Given the description of an element on the screen output the (x, y) to click on. 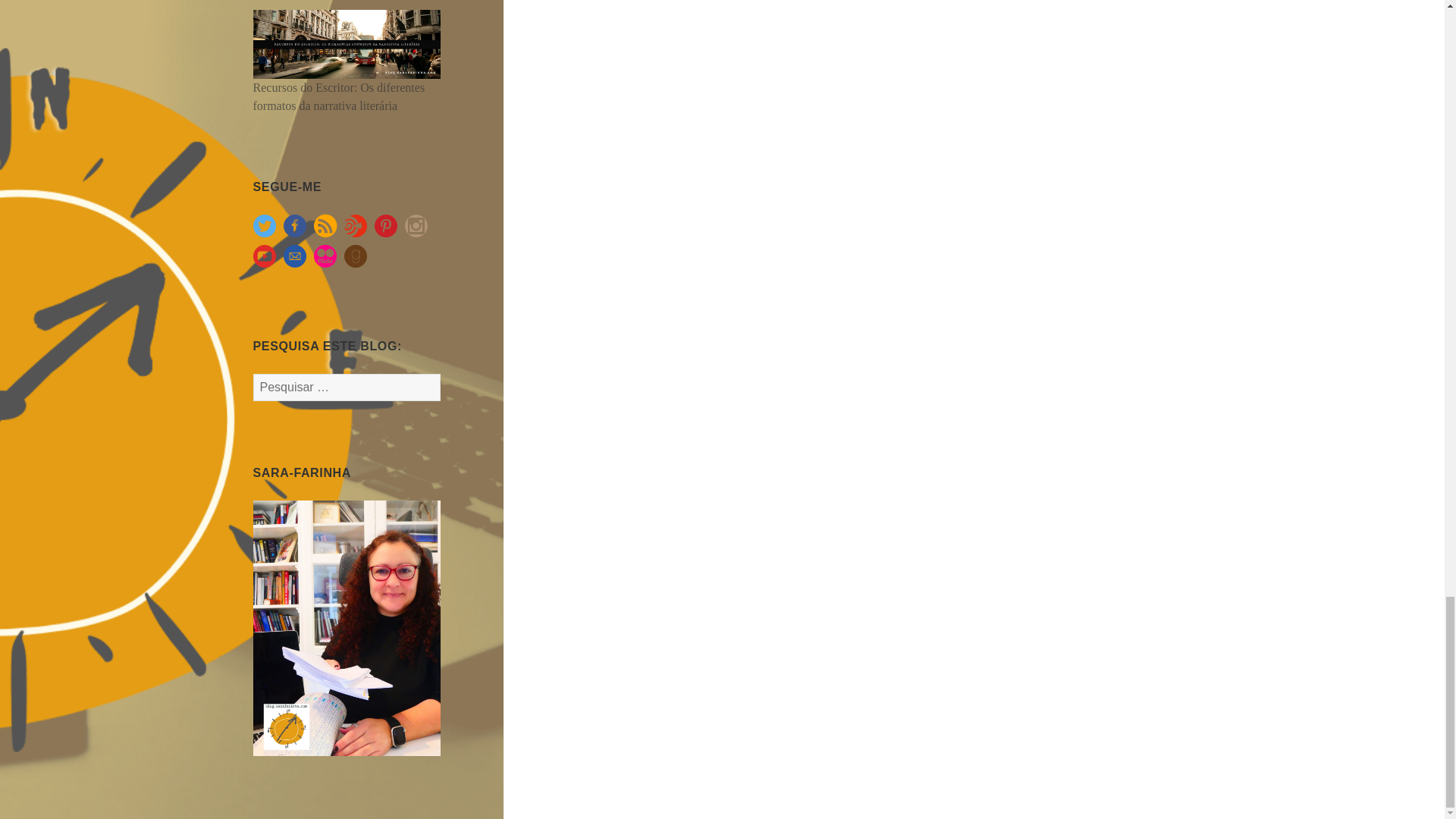
Sara-Farinha (347, 626)
Destaque: (347, 42)
